Given the description of an element on the screen output the (x, y) to click on. 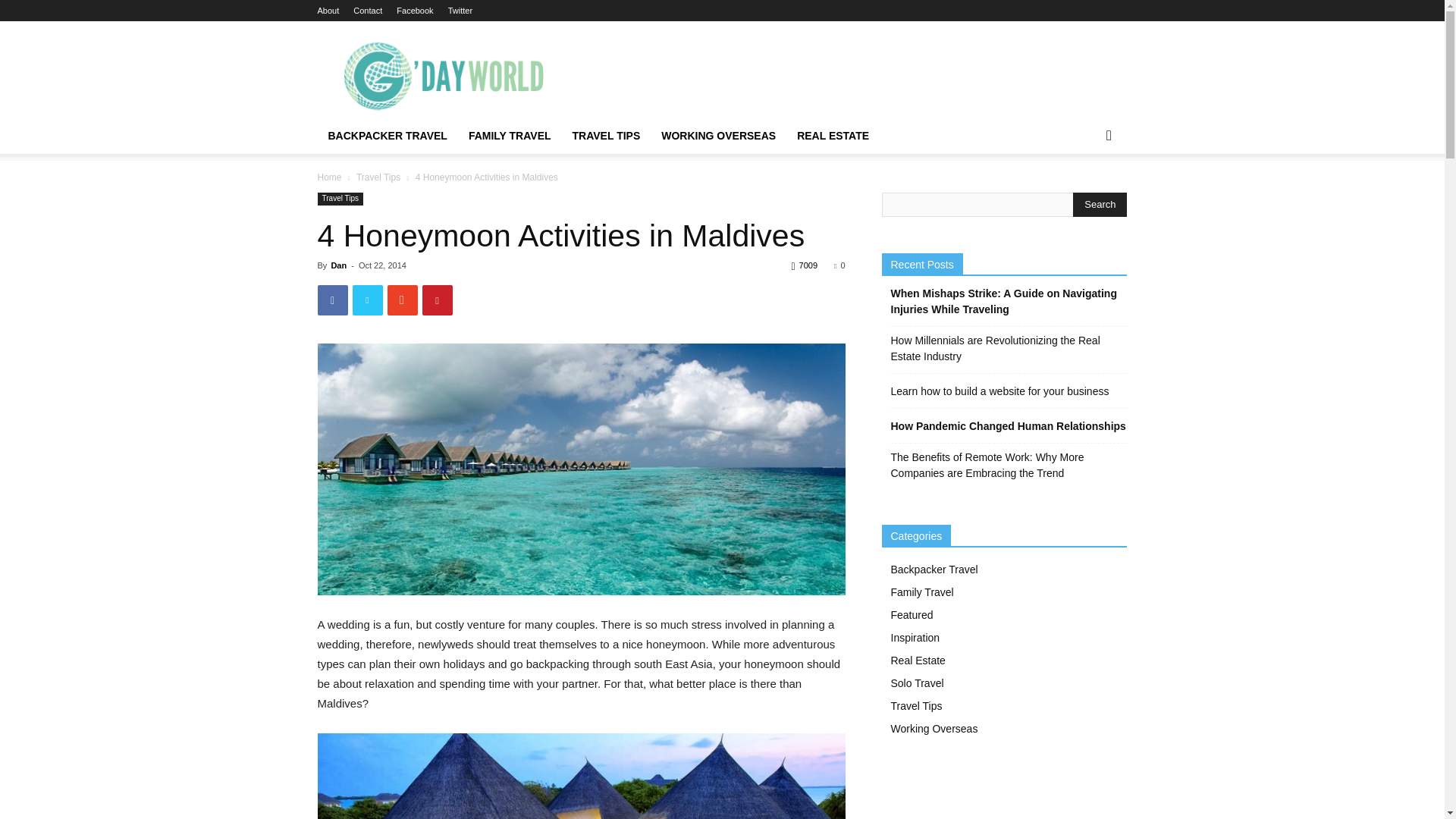
REAL ESTATE (832, 135)
About (328, 10)
Travel Tips (339, 198)
Facebook (414, 10)
Search (1085, 196)
Contact (367, 10)
BACKPACKER TRAVEL (387, 135)
FAMILY TRAVEL (510, 135)
Dan (338, 265)
Home (328, 176)
WORKING OVERSEAS (718, 135)
0 (839, 265)
TRAVEL TIPS (606, 135)
Search (1099, 204)
Twitter (459, 10)
